Given the description of an element on the screen output the (x, y) to click on. 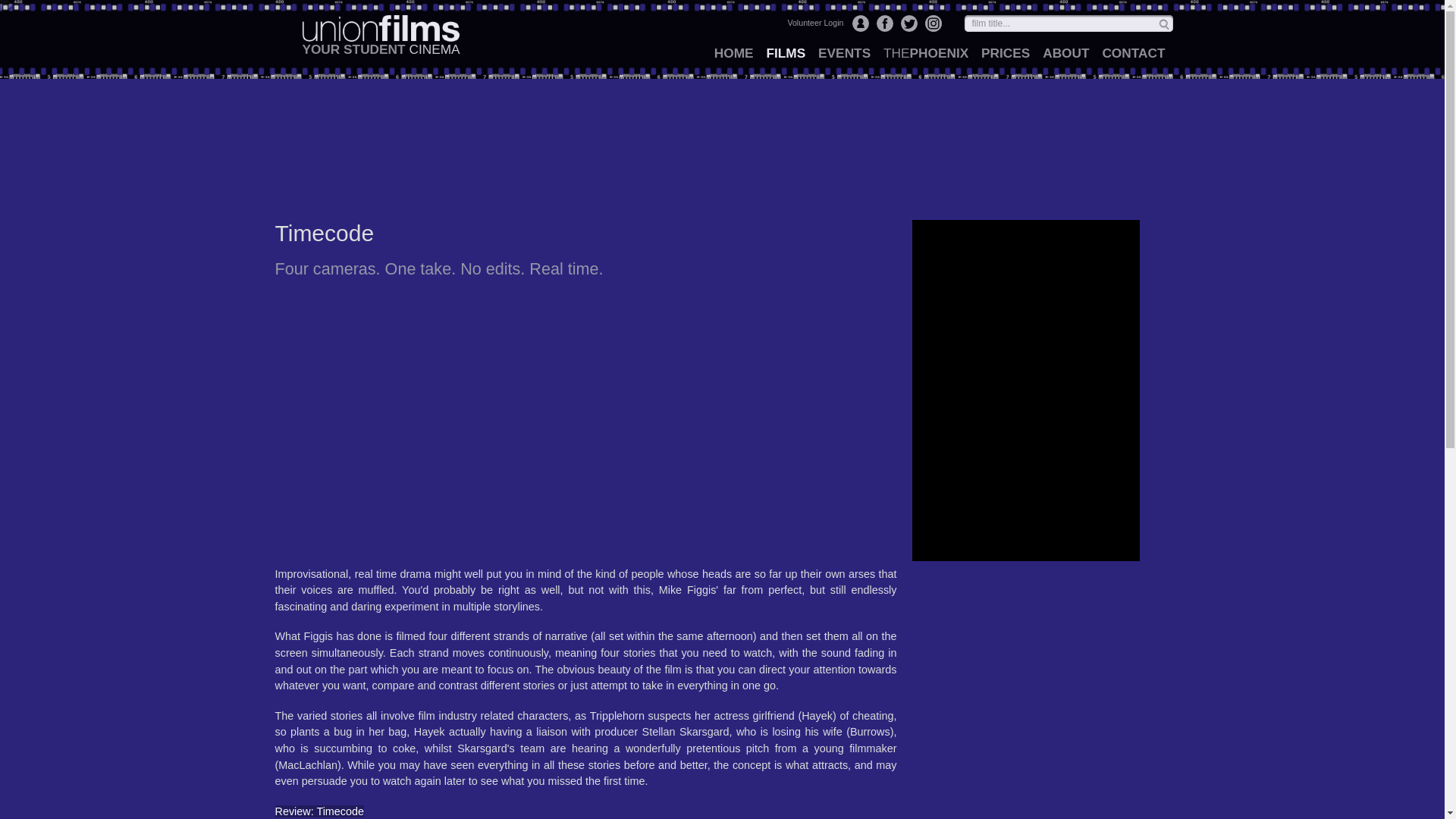
THEPHOENIX (925, 53)
HOME (736, 53)
Twitter (909, 23)
FILMS (785, 53)
Facebook (884, 23)
search (1163, 23)
Login (860, 23)
search (1163, 23)
EVENTS (844, 53)
ABOUT (1065, 53)
film title... (1068, 23)
CONTACT (1133, 53)
Instagram (933, 23)
YOUR STUDENT CINEMA (380, 38)
PRICES (1004, 53)
